Given the description of an element on the screen output the (x, y) to click on. 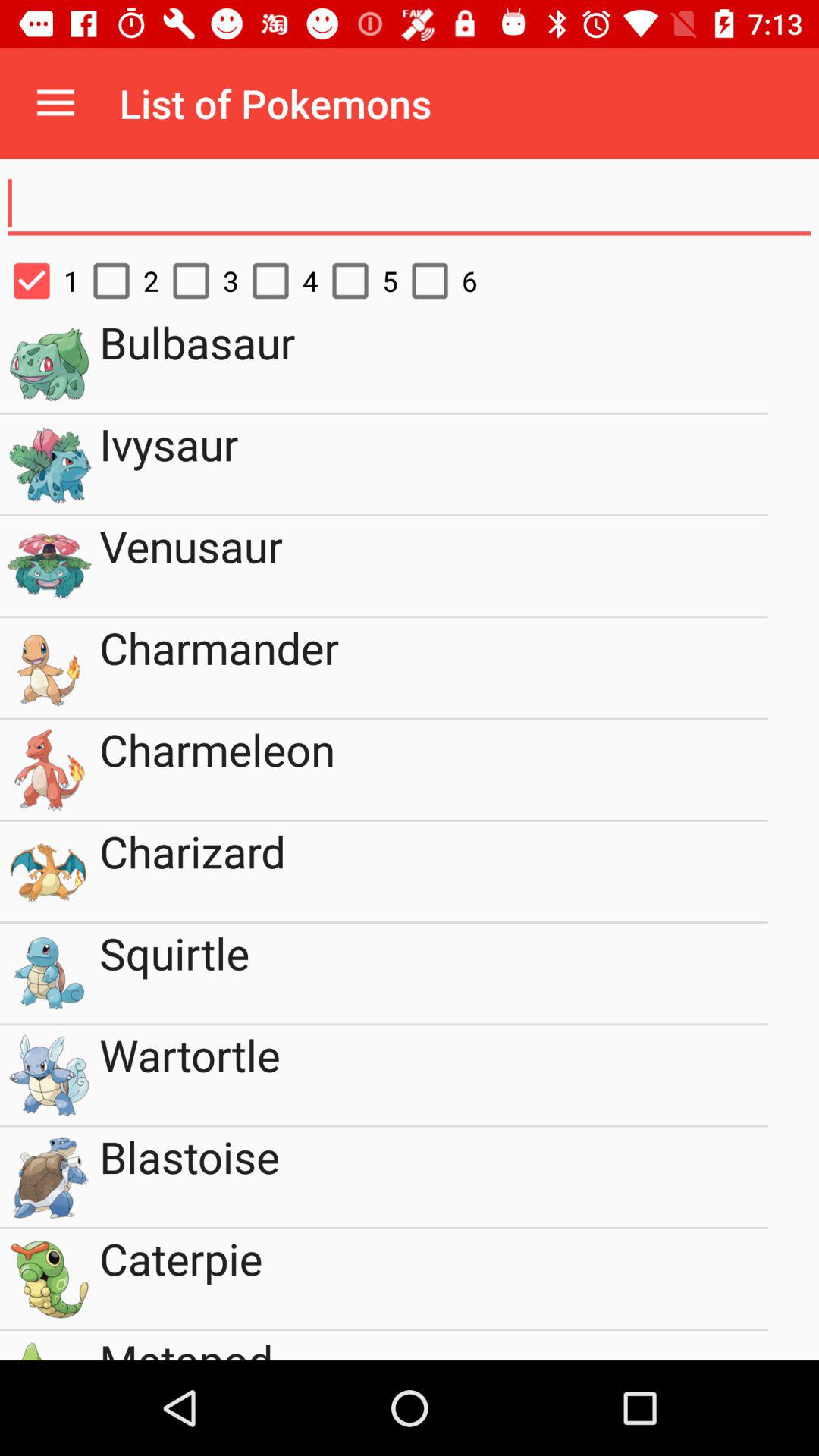
tap wartortle icon (433, 1074)
